Given the description of an element on the screen output the (x, y) to click on. 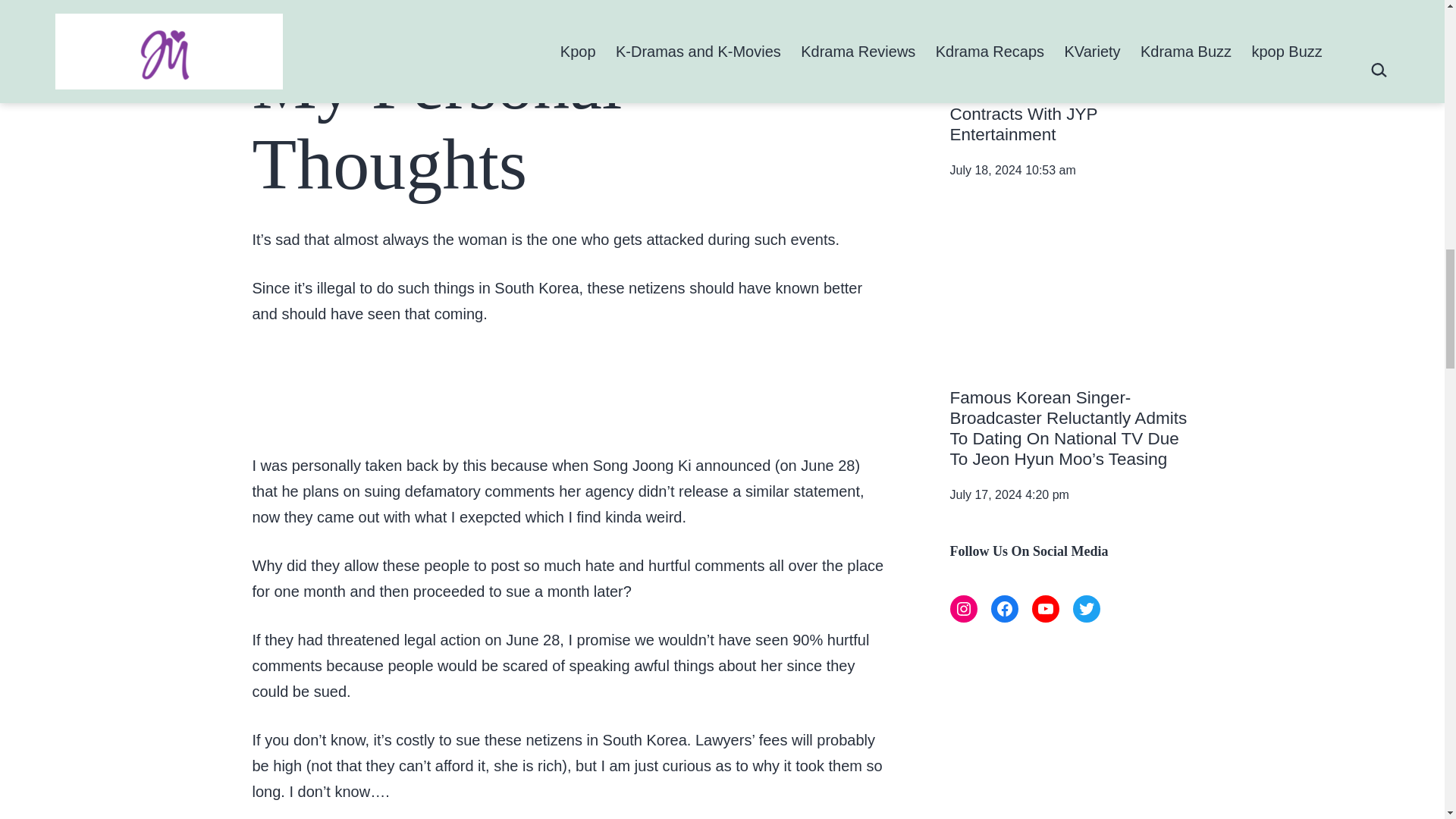
Kim Jong Min 1 (1070, 297)
Facebook (1003, 608)
Instagram (962, 608)
YouTube (1044, 608)
stray kids (1070, 20)
